Given the description of an element on the screen output the (x, y) to click on. 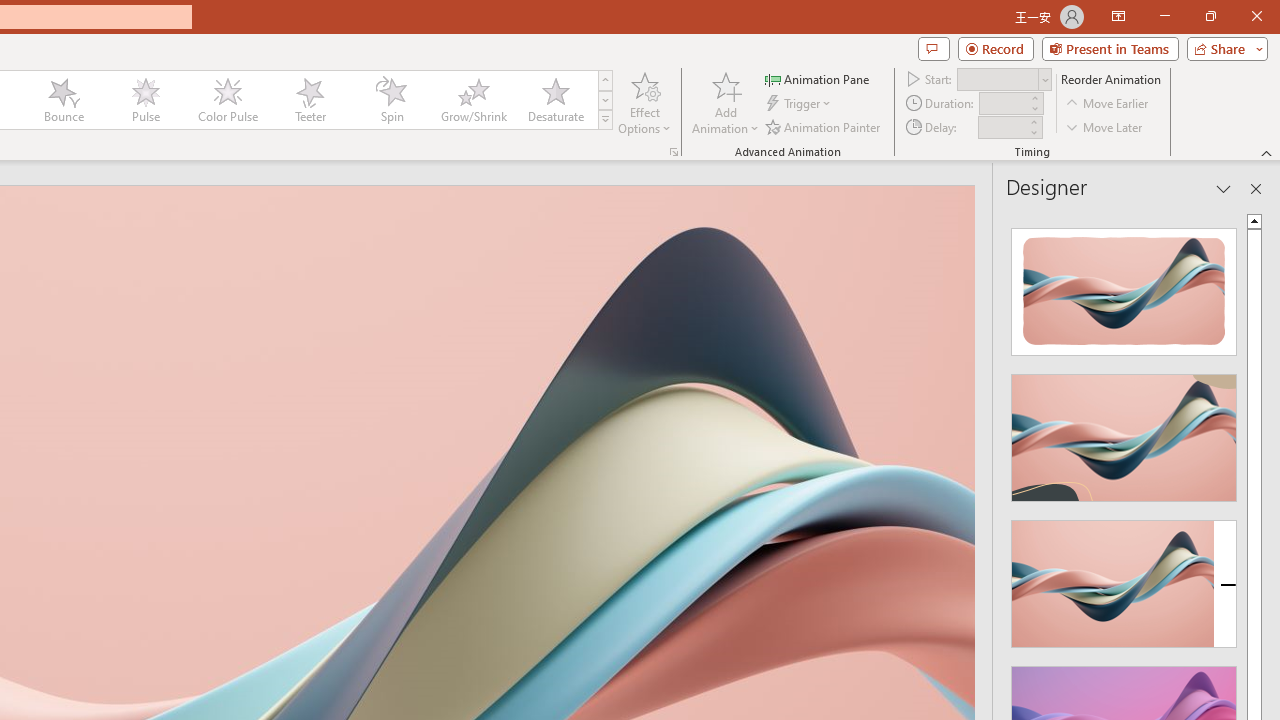
Ribbon Display Options (1118, 16)
Recommended Design: Design Idea (1124, 286)
Animation Styles (605, 120)
Effect Options (644, 102)
Pulse (145, 100)
Start (1004, 78)
More Options... (673, 151)
Add Animation (725, 102)
Grow/Shrink (473, 100)
Share (1223, 48)
Record (995, 48)
Task Pane Options (1224, 188)
Row up (605, 79)
Animation Pane (818, 78)
